Given the description of an element on the screen output the (x, y) to click on. 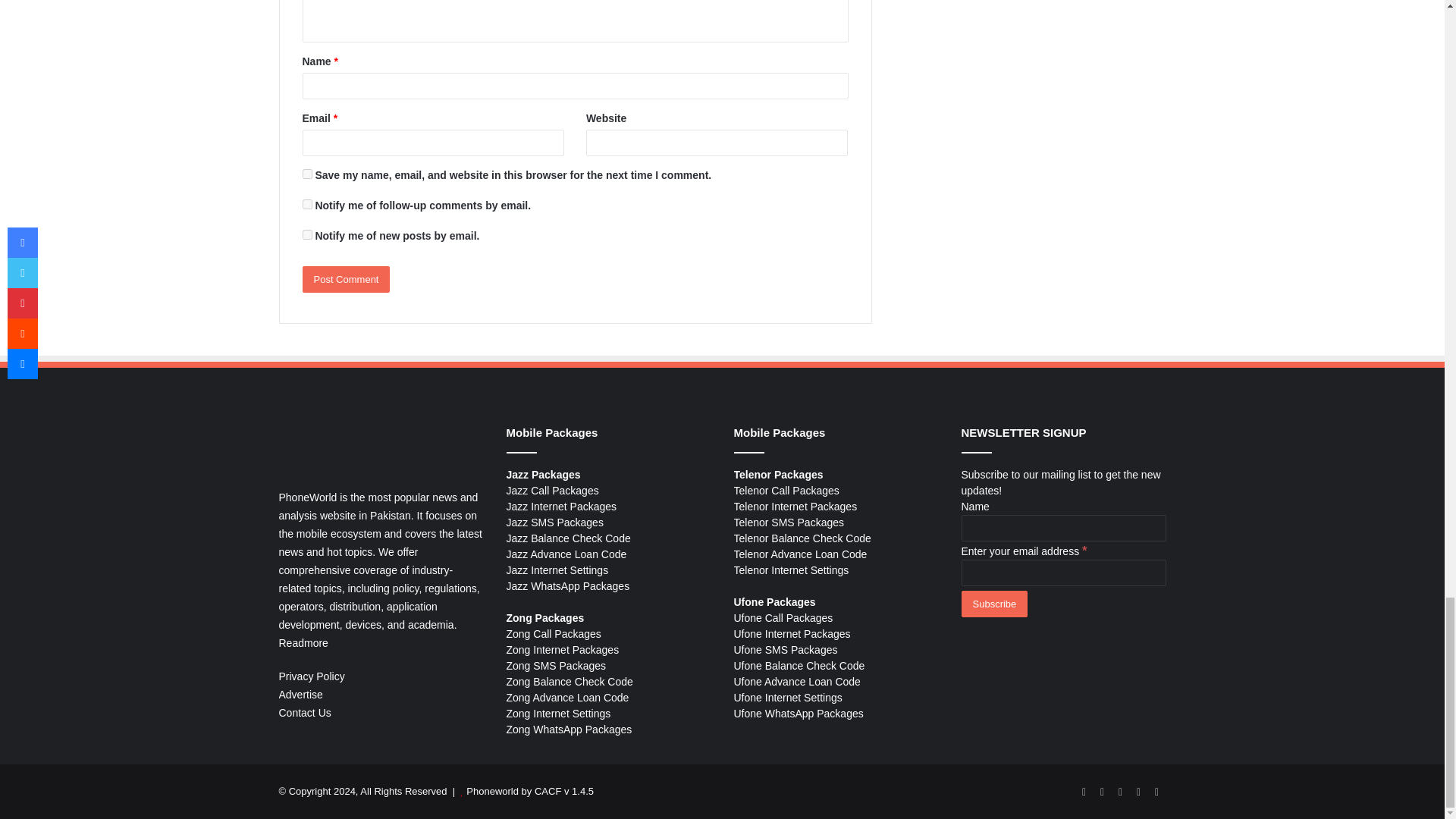
Subscribe (993, 603)
Post Comment (345, 279)
subscribe (306, 234)
subscribe (306, 204)
yes (306, 173)
